Given the description of an element on the screen output the (x, y) to click on. 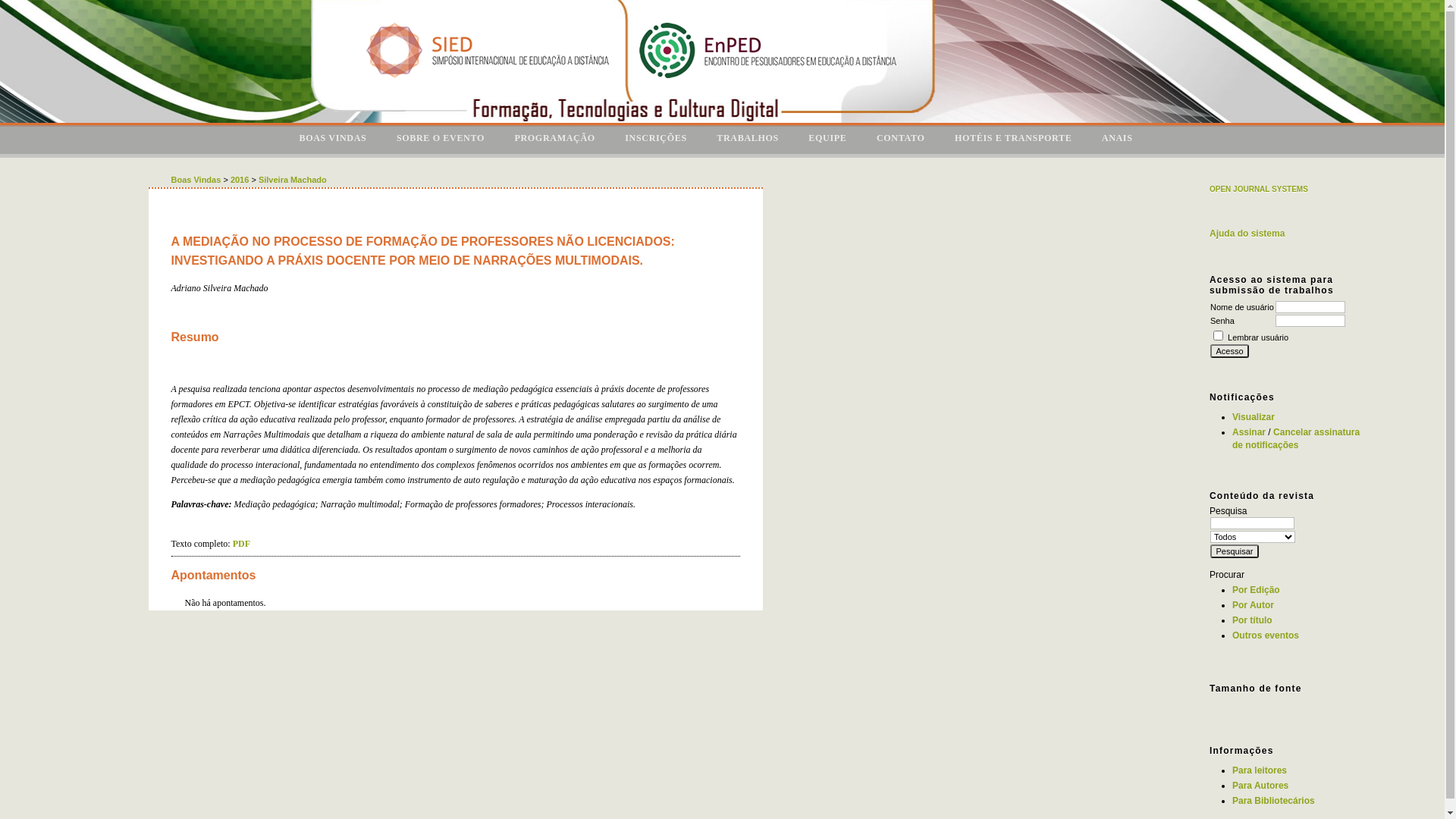
2016 Element type: text (239, 179)
Por Autor Element type: text (1253, 604)
Boas Vindas Element type: text (196, 179)
Ajuda do sistema Element type: text (1246, 233)
CONTATO Element type: text (900, 139)
Acesso Element type: text (1229, 350)
ANAIS Element type: text (1117, 139)
OPEN JOURNAL SYSTEMS Element type: text (1258, 189)
Assinar Element type: text (1248, 431)
Pesquisar Element type: text (1234, 551)
SOBRE O EVENTO Element type: text (440, 139)
Outros eventos Element type: text (1265, 635)
Para Autores Element type: text (1260, 785)
PDF Element type: text (241, 543)
Para leitores Element type: text (1259, 770)
EQUIPE Element type: text (826, 139)
BOAS VINDAS Element type: text (332, 139)
Silveira Machado Element type: text (292, 179)
TRABALHOS Element type: text (747, 139)
Visualizar Element type: text (1253, 416)
